Given the description of an element on the screen output the (x, y) to click on. 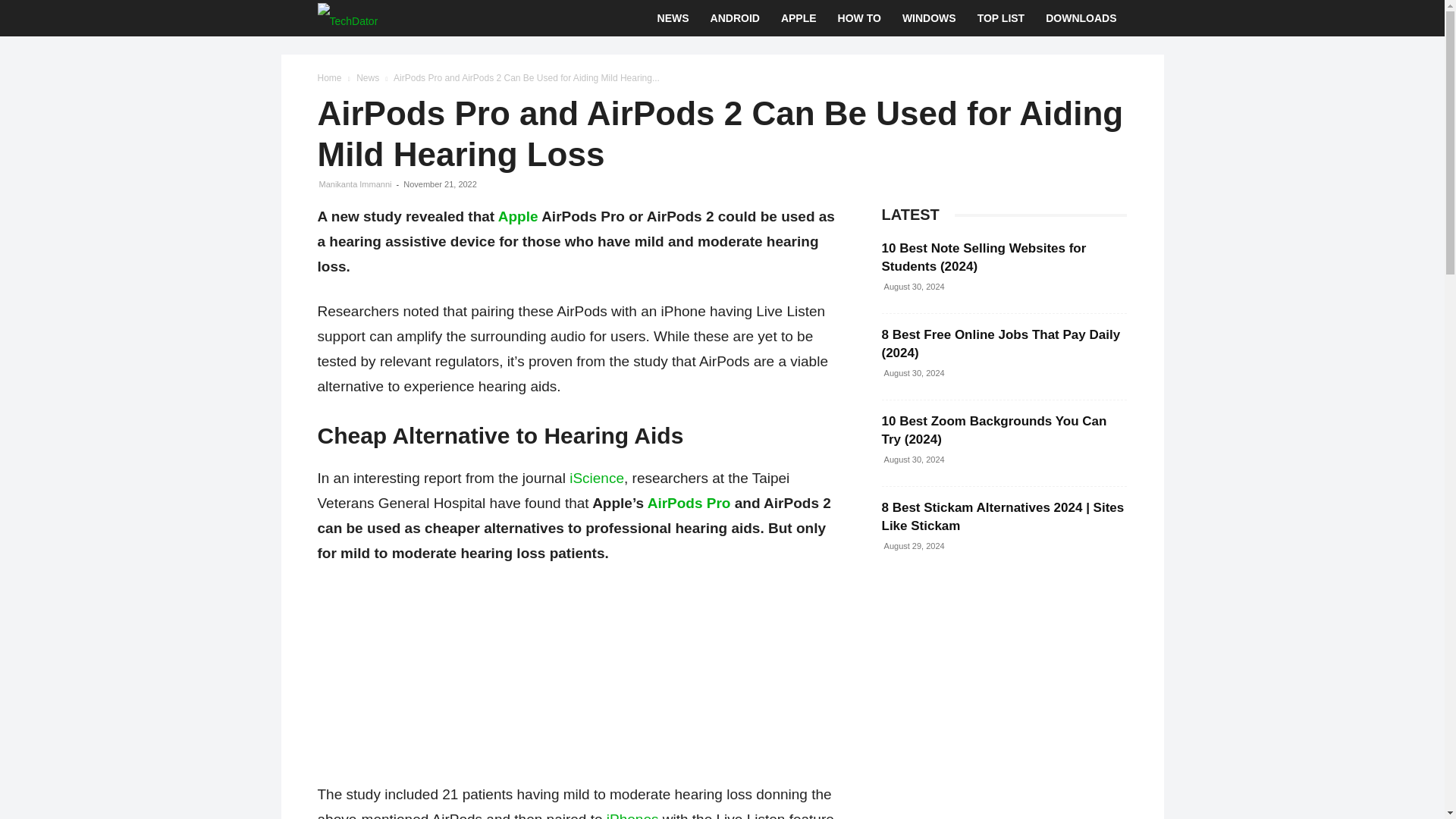
TOP LIST (1000, 18)
Apple (517, 216)
TechDator (347, 18)
iPhones (633, 815)
ANDROID (735, 18)
iScience (596, 478)
HOW TO (859, 18)
DOWNLOADS (1080, 18)
NEWS (673, 18)
Manikanta Immanni (354, 184)
